Given the description of an element on the screen output the (x, y) to click on. 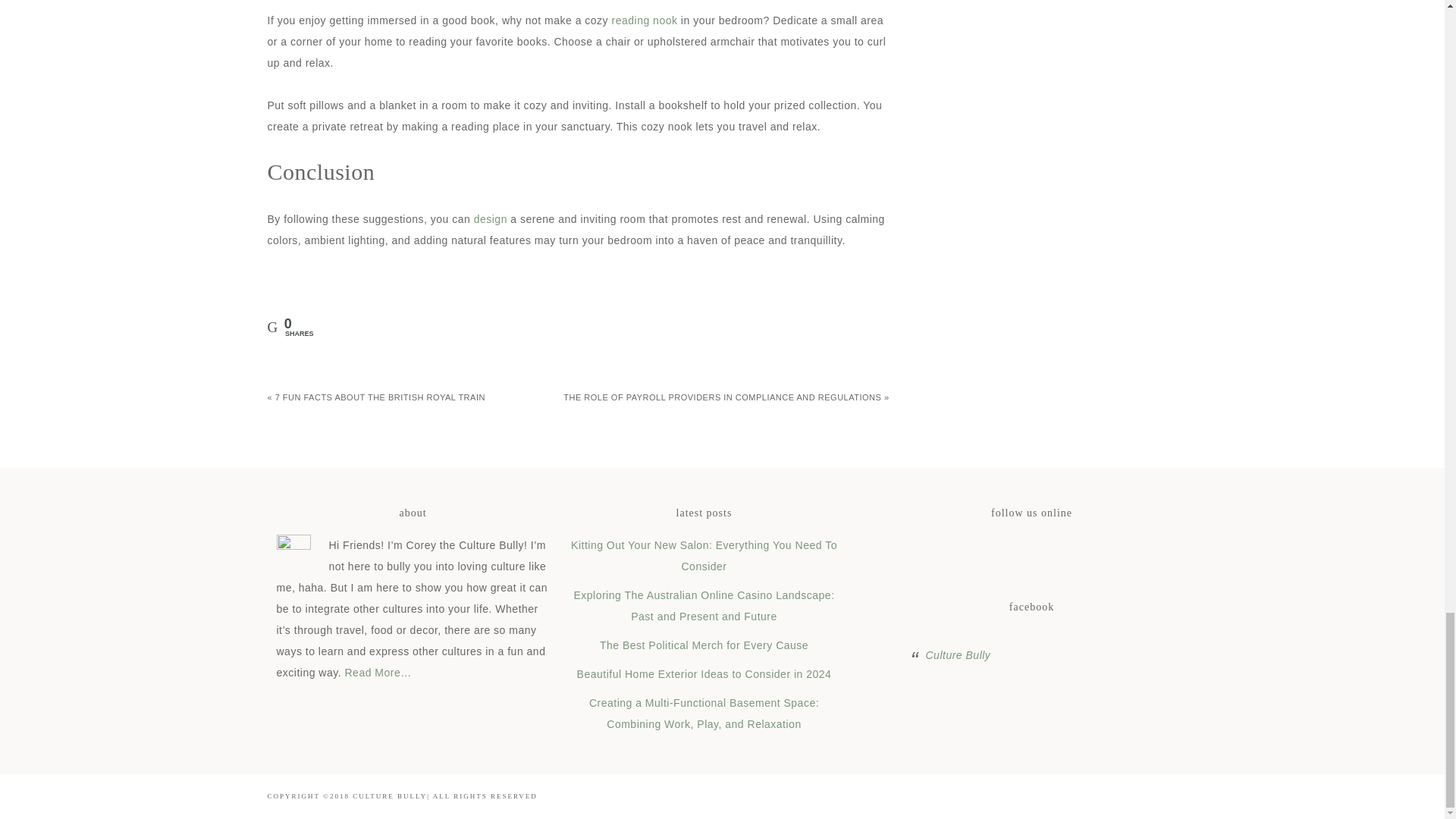
Kitting Out Your New Salon: Everything You Need To Consider (703, 555)
reading nook (644, 20)
Culture Bully (957, 654)
The Best Political Merch for Every Cause (703, 645)
design (490, 218)
Beautiful Home Exterior Ideas to Consider in 2024 (703, 674)
